Given the description of an element on the screen output the (x, y) to click on. 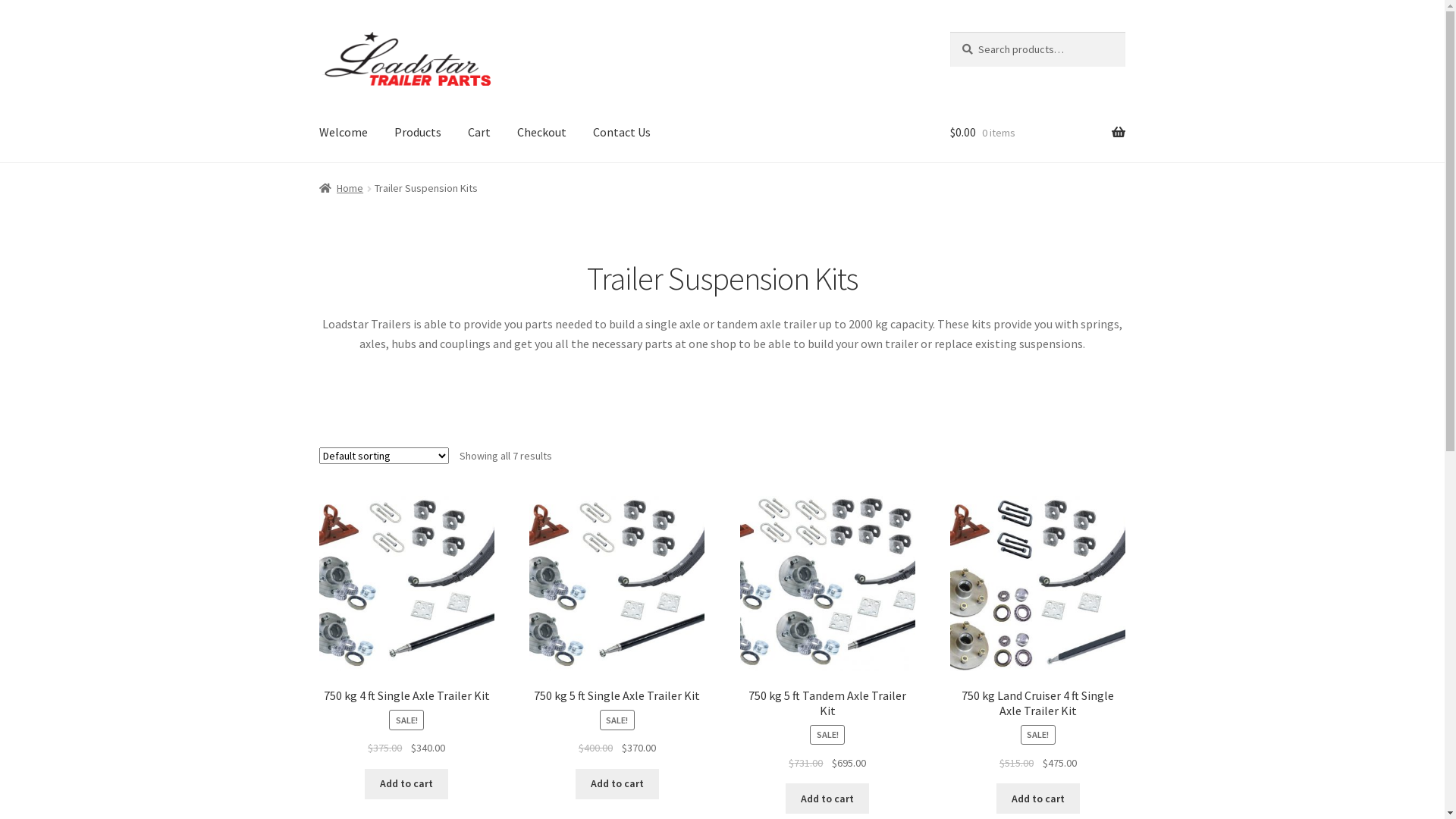
Home Element type: text (341, 187)
Cart Element type: text (478, 132)
$0.00 0 items Element type: text (1037, 132)
Checkout Element type: text (541, 132)
Products Element type: text (417, 132)
Search Element type: text (949, 31)
750 kg 5 ft Single Axle Trailer Kit
SALE!
$400.00 $370.00 Element type: text (616, 625)
Welcome Element type: text (343, 132)
Add to cart Element type: text (616, 783)
Add to cart Element type: text (406, 783)
750 kg 5 ft Tandem Axle Trailer Kit
SALE!
$731.00 $695.00 Element type: text (827, 633)
Skip to navigation Element type: text (318, 31)
Contact Us Element type: text (621, 132)
750 kg 4 ft Single Axle Trailer Kit
SALE!
$375.00 $340.00 Element type: text (406, 625)
Add to cart Element type: text (1037, 798)
Add to cart Element type: text (827, 798)
